Given the description of an element on the screen output the (x, y) to click on. 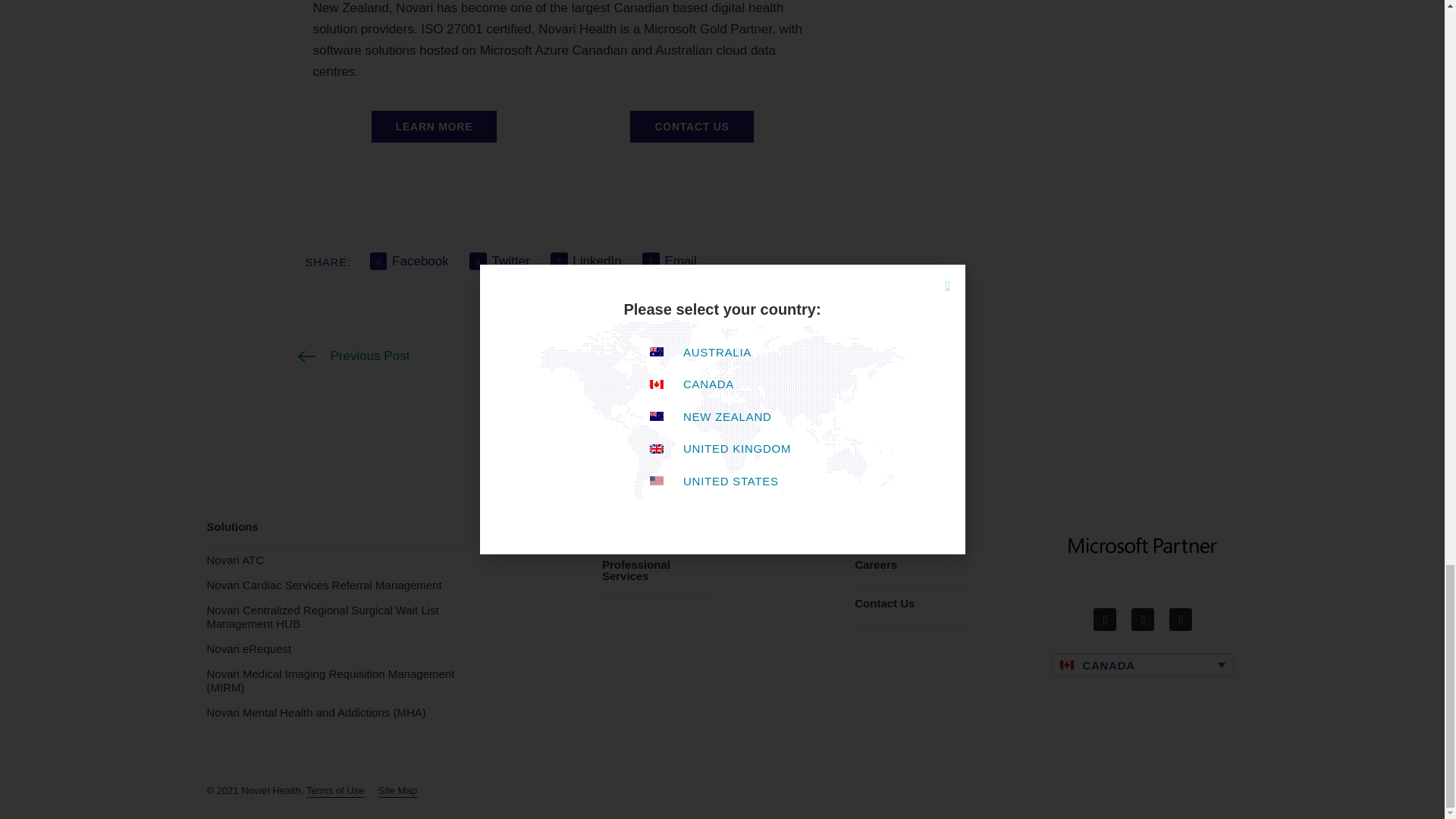
CONTACT US (691, 126)
Next Post (824, 355)
LEARN MORE (434, 126)
Previous Post (353, 355)
